Given the description of an element on the screen output the (x, y) to click on. 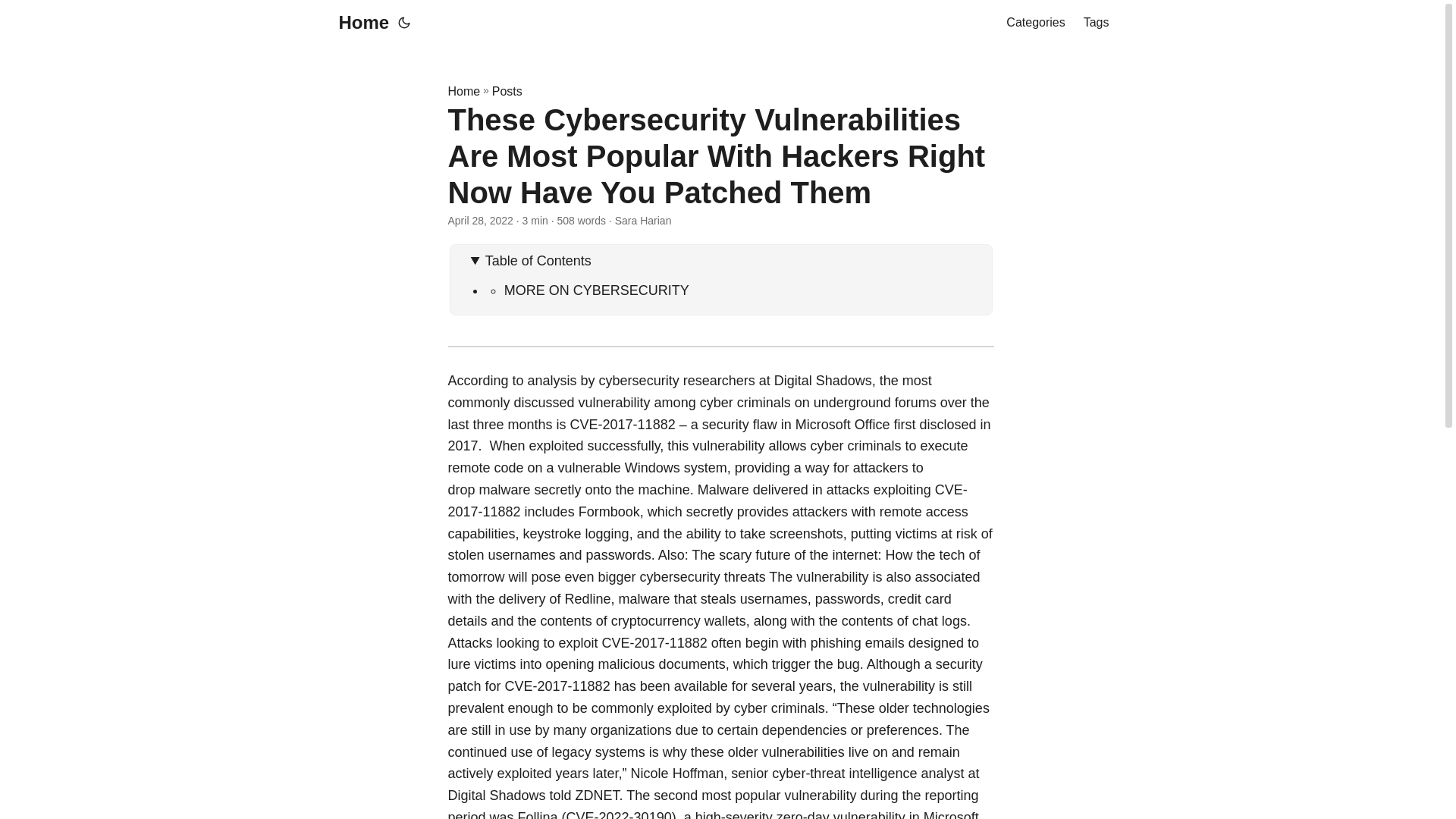
Home (359, 22)
Categories (1035, 22)
Home (463, 91)
Posts (507, 91)
Categories (1035, 22)
MORE ON CYBERSECURITY (595, 290)
